Given the description of an element on the screen output the (x, y) to click on. 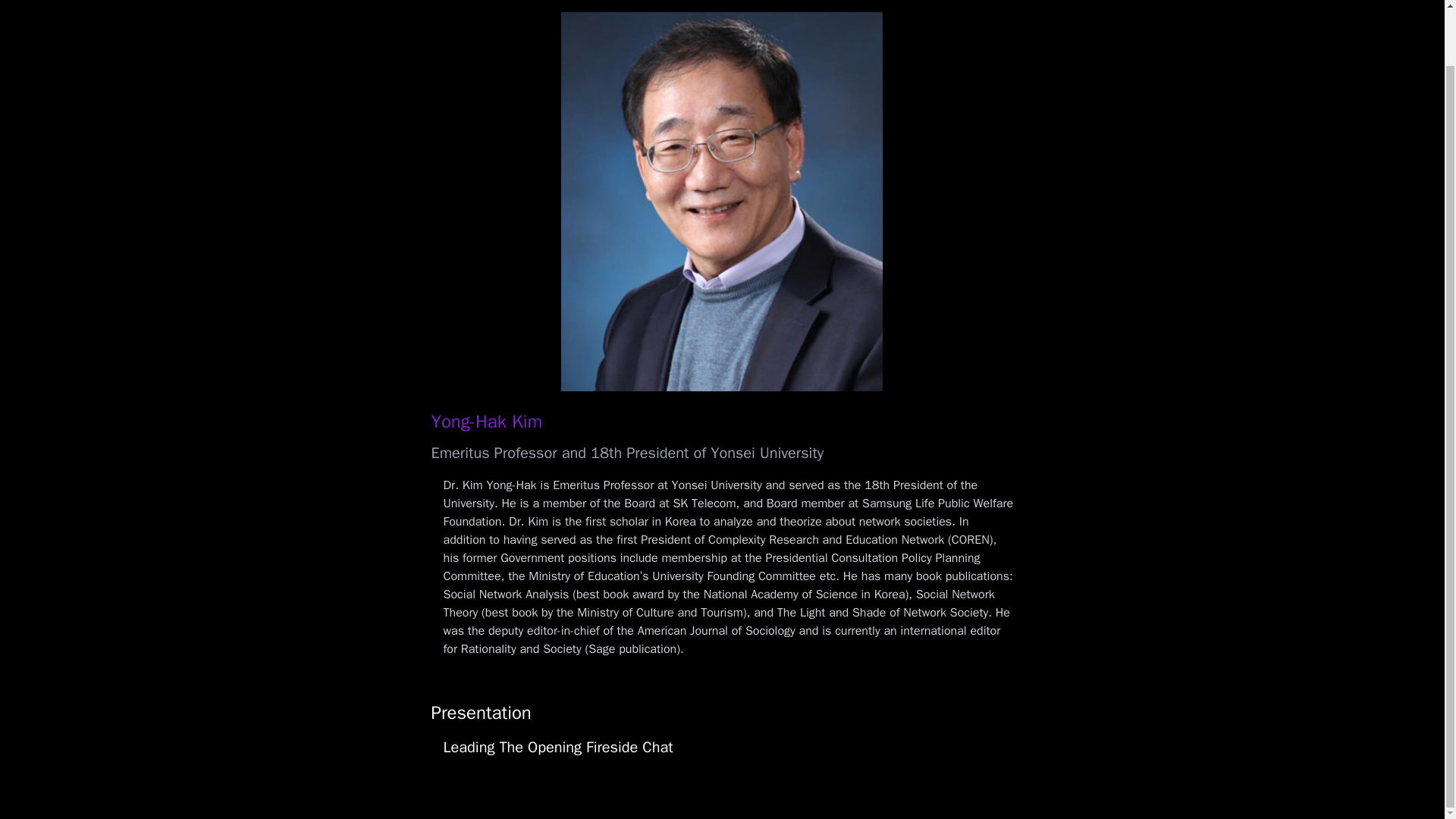
Yong-Hak Kim (485, 421)
